Given the description of an element on the screen output the (x, y) to click on. 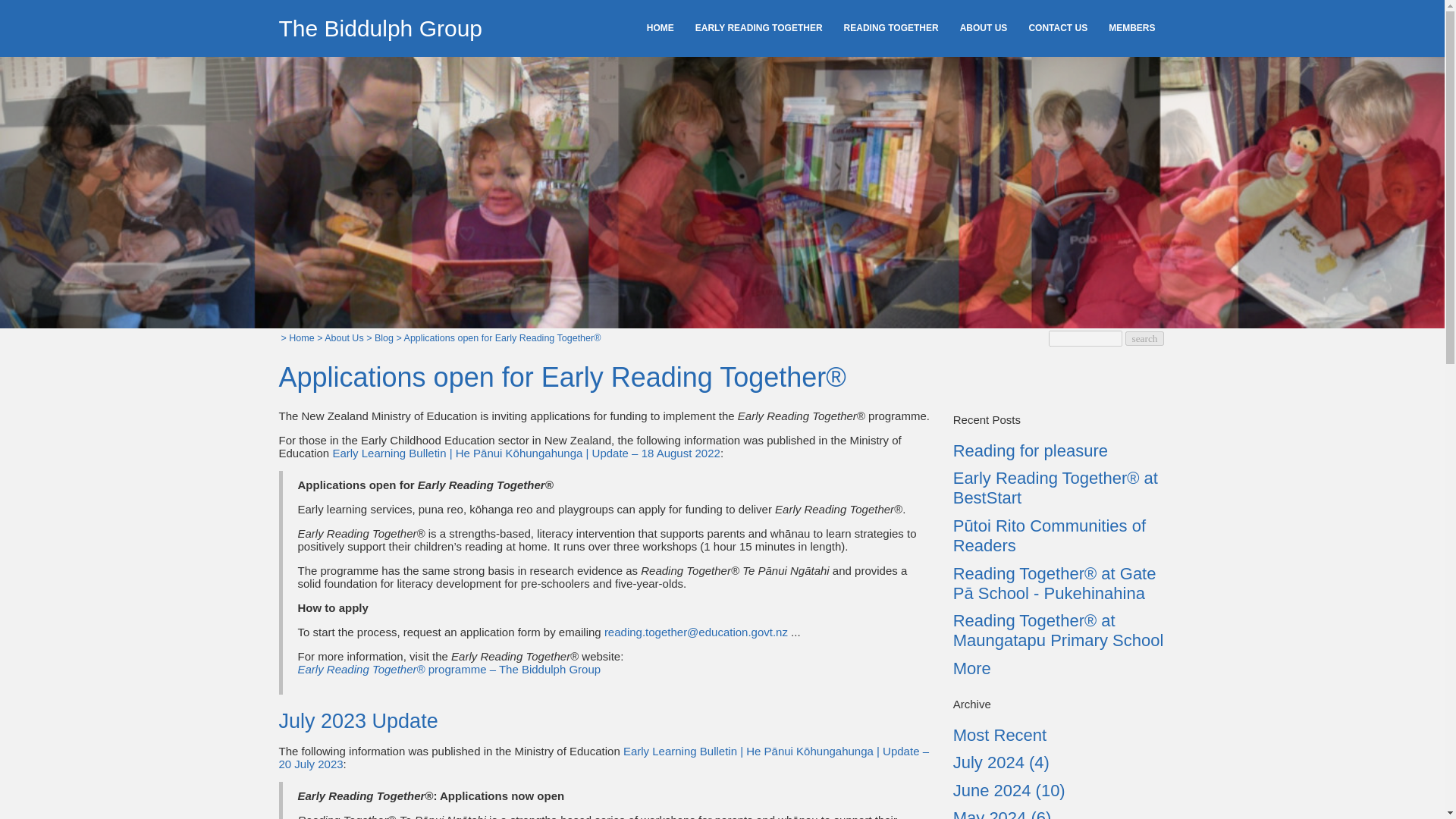
ABOUT US (983, 28)
MEMBERS (1131, 28)
Blog (383, 337)
READING TOGETHER (890, 28)
EARLY READING TOGETHER (758, 28)
search (1144, 338)
About Us (343, 337)
The Biddulph Group (381, 27)
Home (301, 337)
CONTACT US (1057, 28)
